Given the description of an element on the screen output the (x, y) to click on. 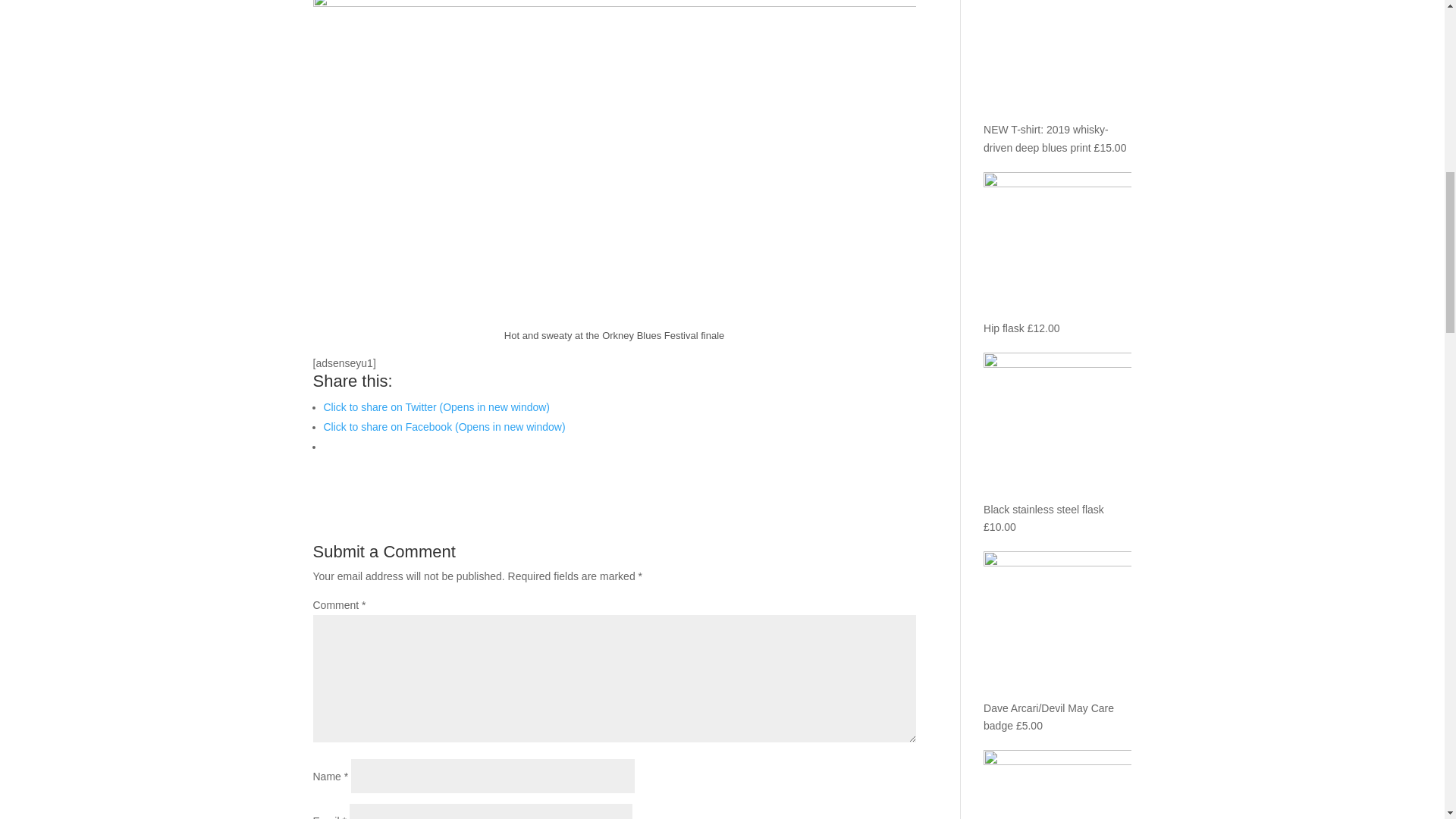
Hip flask (1057, 255)
Click to share on Twitter (436, 407)
Black stainless steel flask (1057, 436)
Click to share on Facebook (443, 426)
T-shirt: bottleneck design (1057, 787)
NEW T-shirt: 2019 whisky-driven deep blues print (1057, 76)
